Given the description of an element on the screen output the (x, y) to click on. 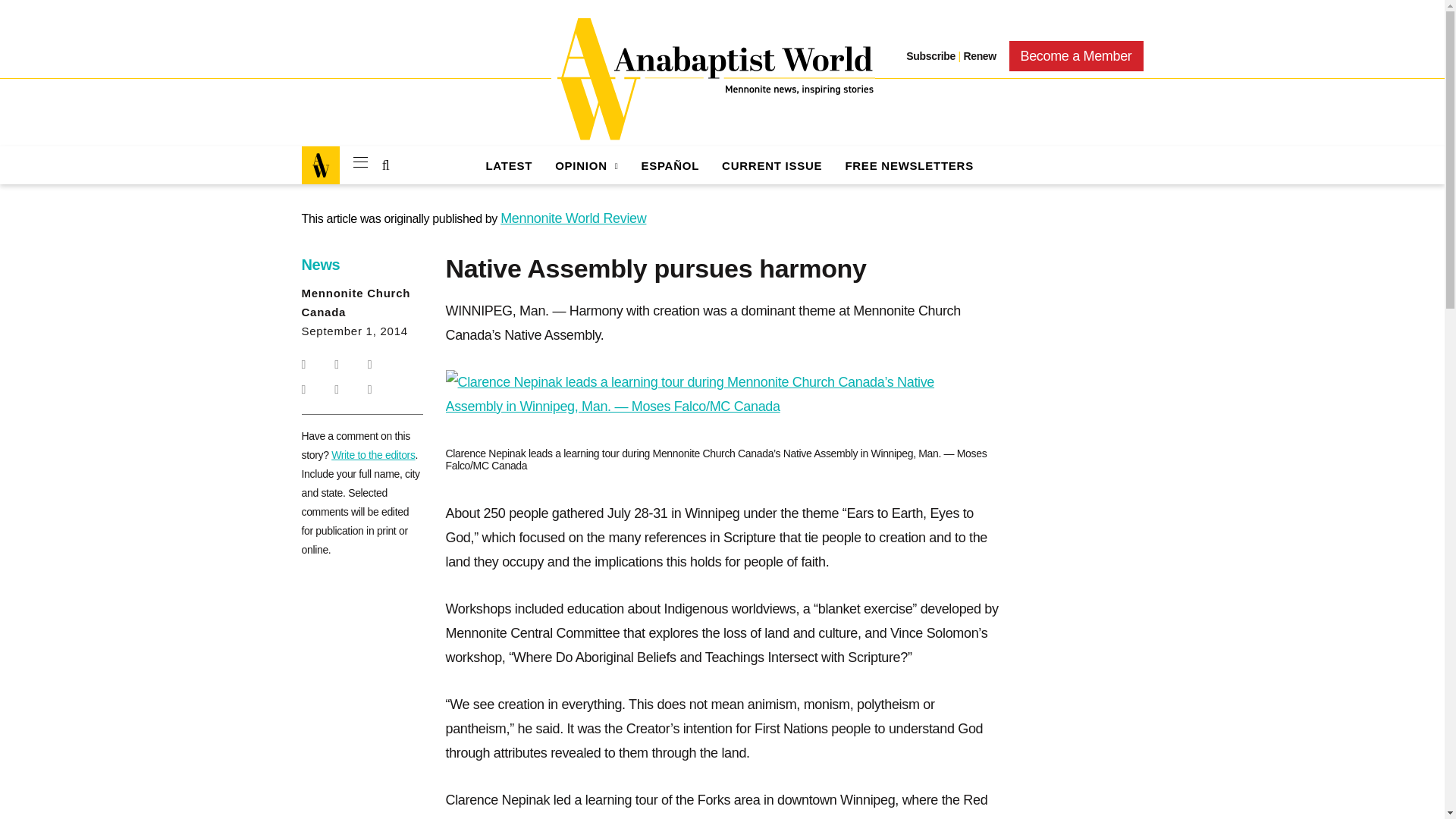
Latest (508, 164)
Posts by Mennonite Church Canada (355, 302)
Current Issue (772, 164)
Free Newsletters (909, 164)
Anabaptist World (713, 79)
Opinion (585, 164)
